Given the description of an element on the screen output the (x, y) to click on. 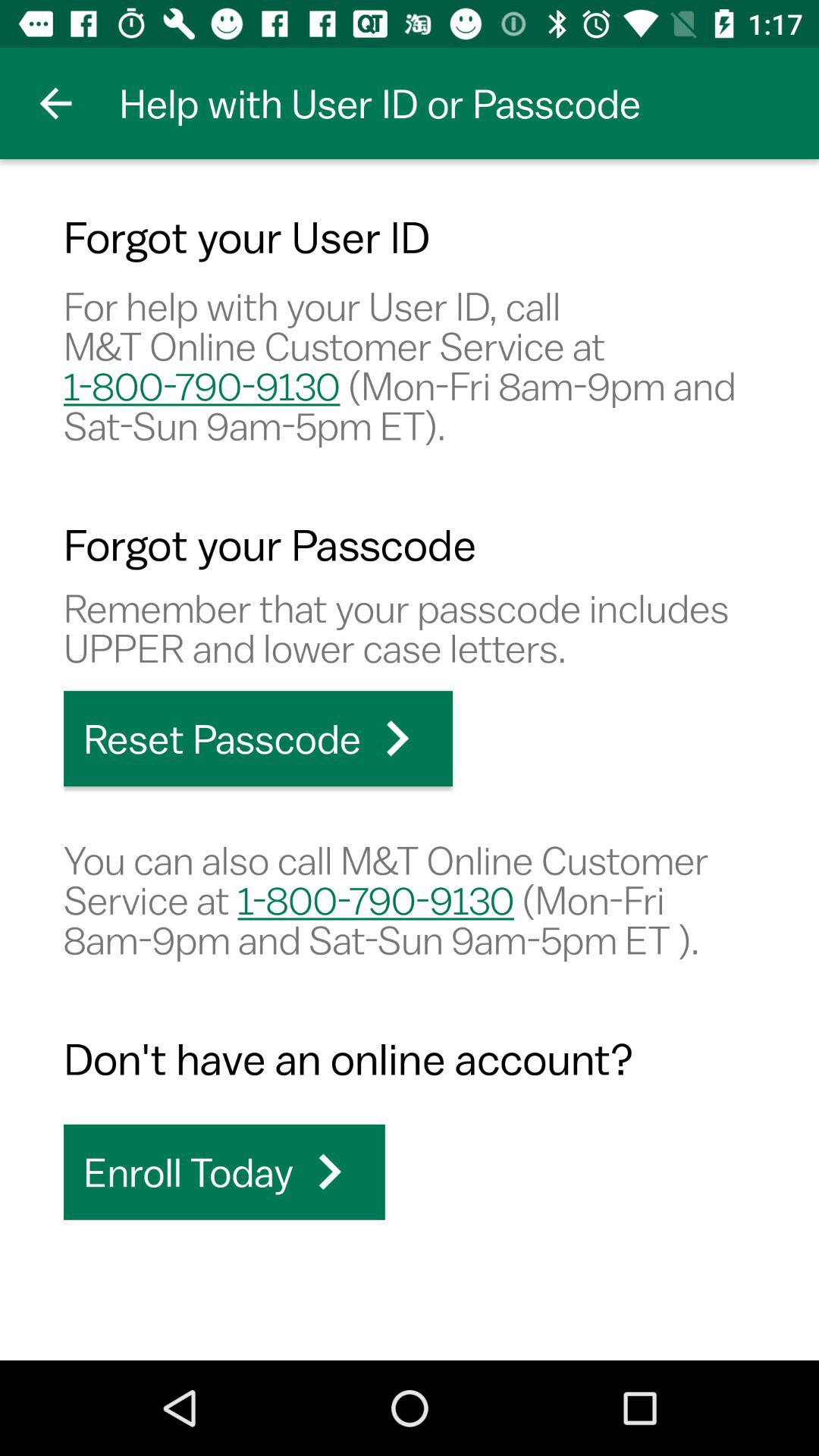
click item next to help with user item (55, 103)
